Given the description of an element on the screen output the (x, y) to click on. 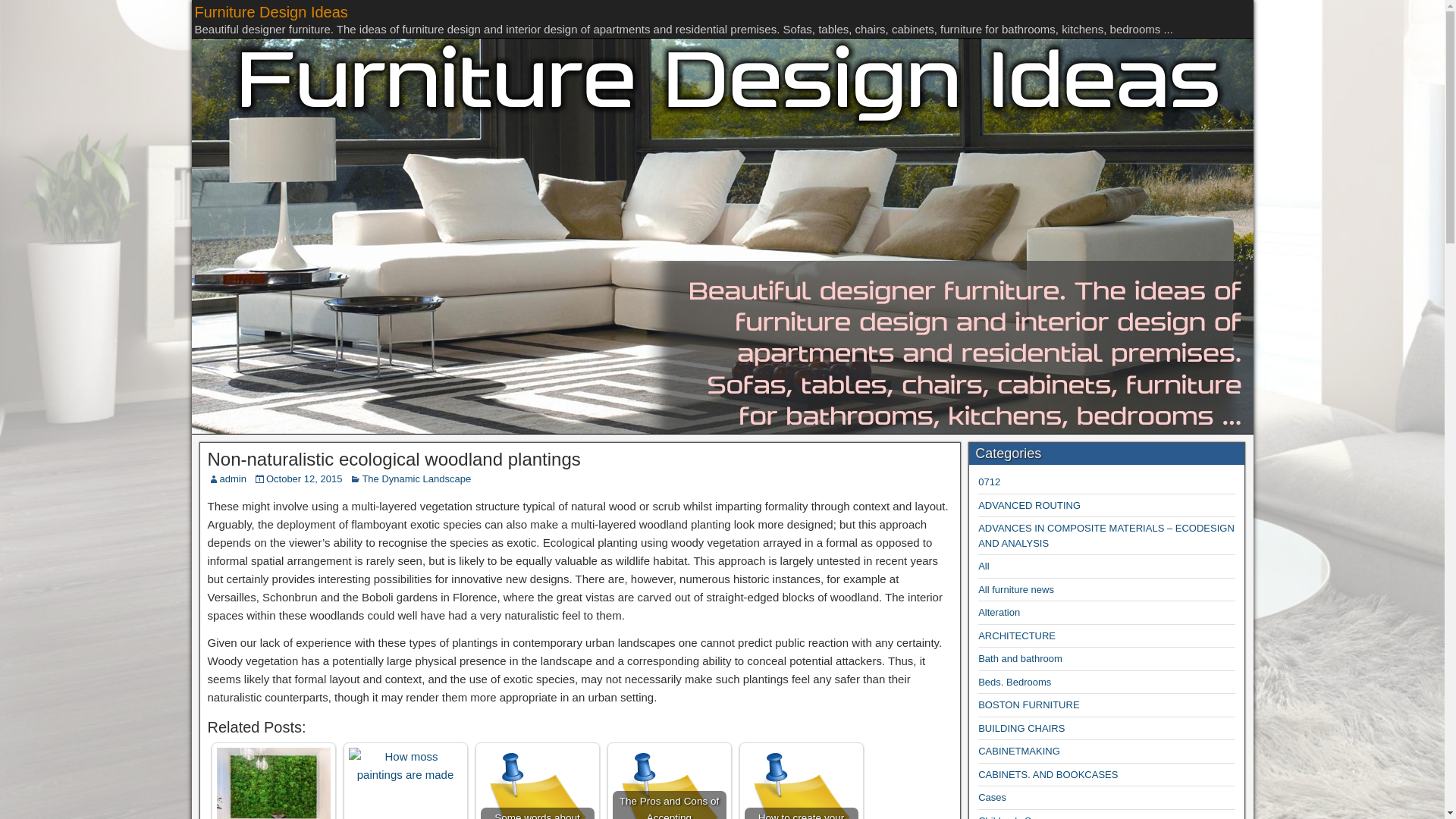
The Pros and Cons of Accepting Cryptocurrency as Payment (669, 783)
Alteration (999, 612)
Moss painting production in Holland (273, 783)
BUILDING CHAIRS (1021, 727)
0712 (989, 481)
CABINETMAKING (1018, 750)
October 12, 2015 (304, 478)
All furniture news (1016, 589)
Bath and bathroom (1020, 658)
Non-naturalistic ecological woodland plantings (394, 458)
CABINETS. AND BOOKCASES (1048, 774)
Children's Spaces (1017, 816)
ADVANCED ROUTING (1029, 505)
